Given the description of an element on the screen output the (x, y) to click on. 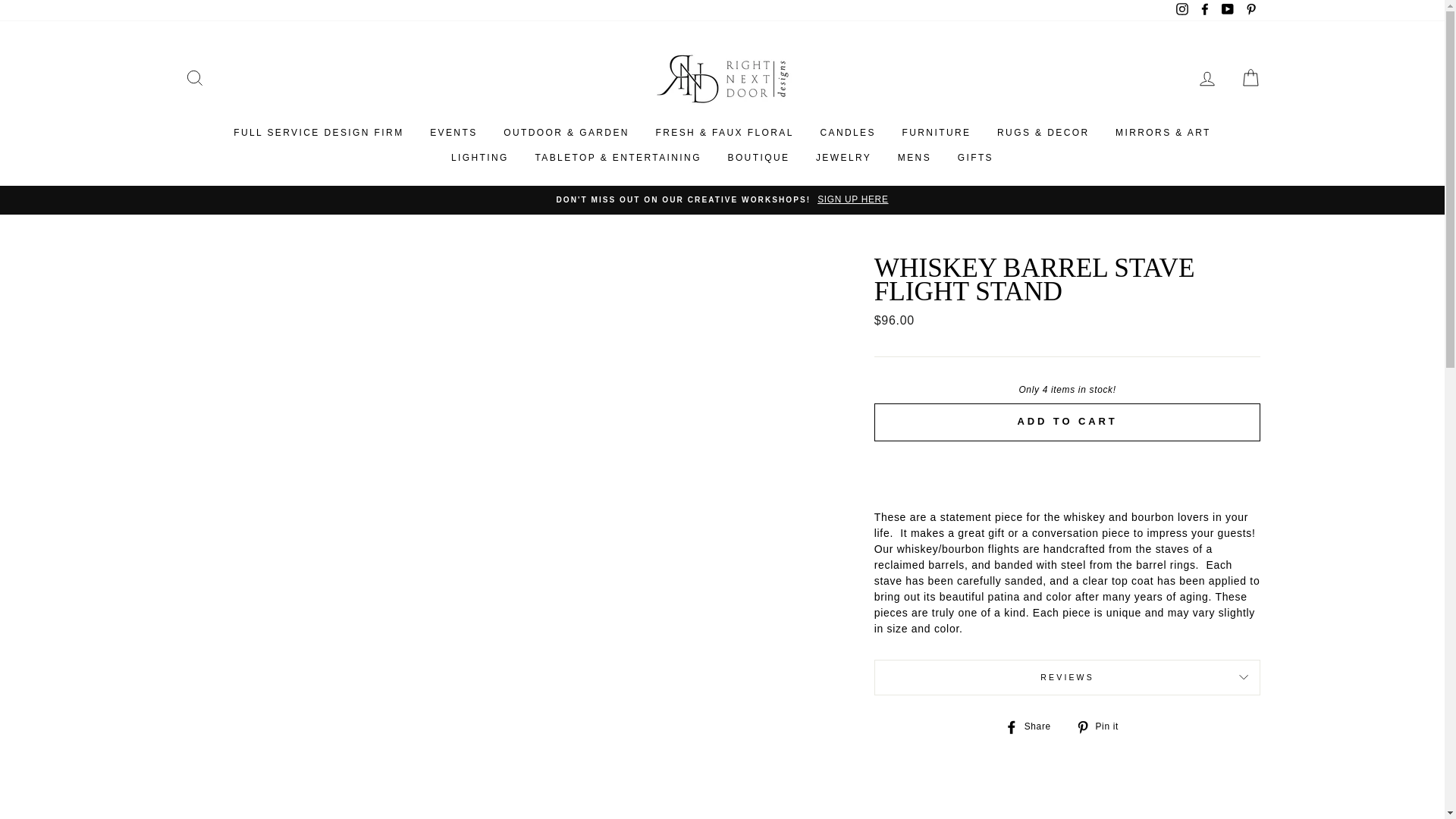
Right Next Door Designs on Instagram (1182, 10)
Right Next Door Designs on YouTube (1227, 10)
Share on Facebook (1033, 725)
Right Next Door Designs on Facebook (1204, 10)
Pin on Pinterest (1102, 725)
Right Next Door Designs on Pinterest (1250, 10)
